Given the description of an element on the screen output the (x, y) to click on. 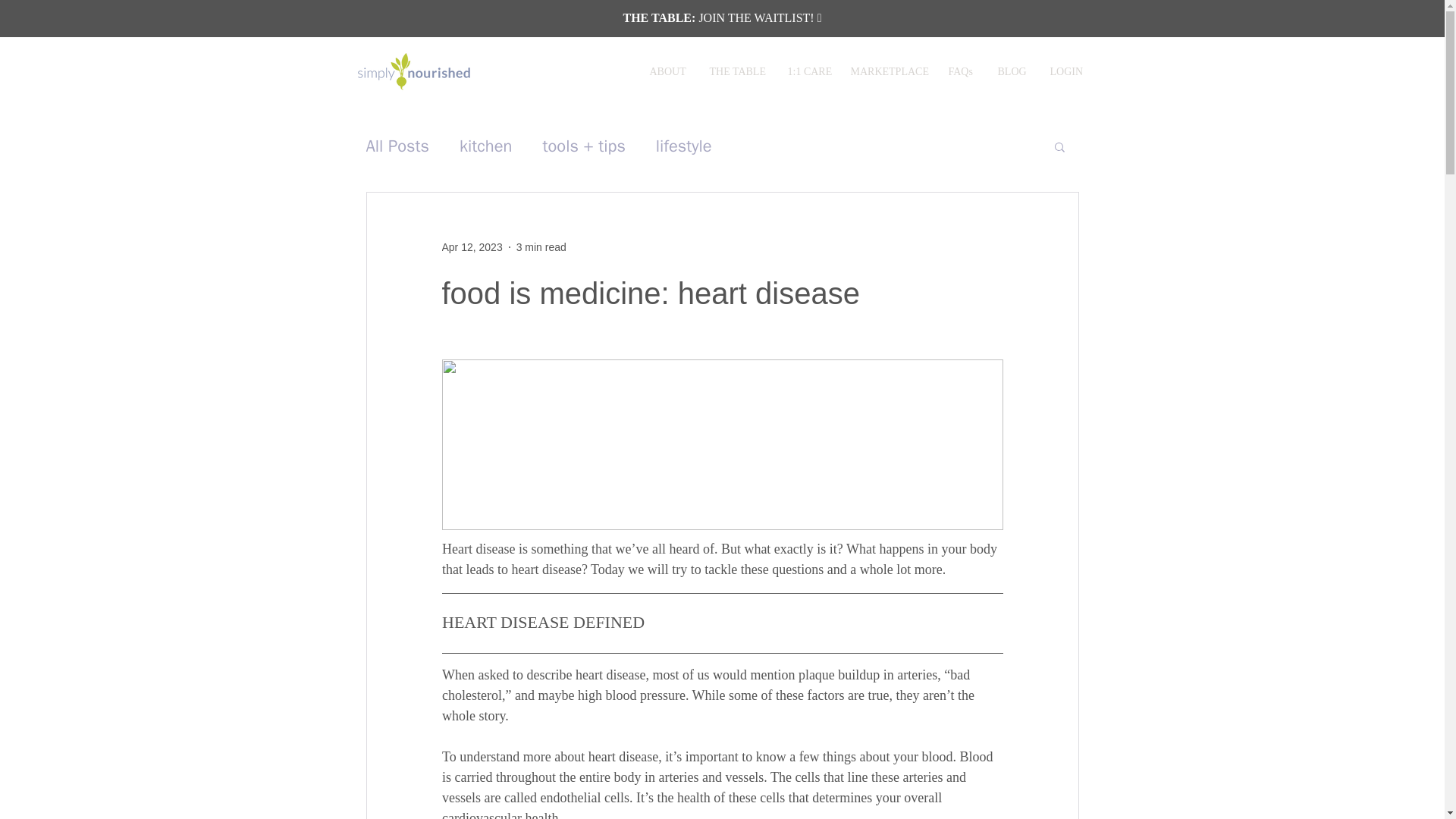
3 min read (541, 246)
FAQs (962, 71)
Apr 12, 2023 (471, 246)
lifestyle (683, 146)
1:1 CARE (808, 71)
BLOG (1011, 71)
ABOUT (668, 71)
All Posts (397, 146)
kitchen (486, 146)
MARKETPLACE (887, 71)
THE TABLE (736, 71)
